Given the description of an element on the screen output the (x, y) to click on. 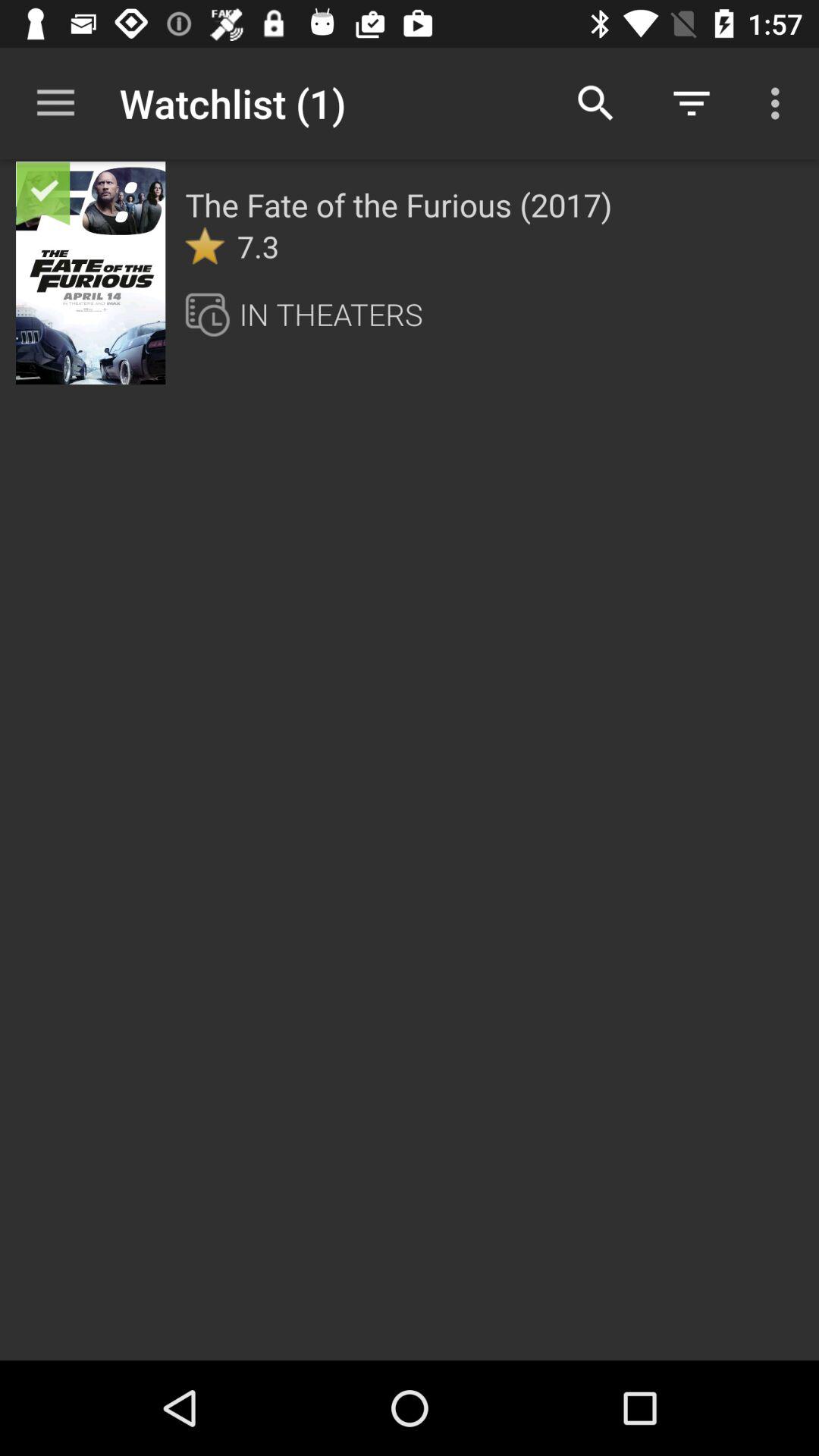
open the icon next to the the fate of (63, 209)
